Given the description of an element on the screen output the (x, y) to click on. 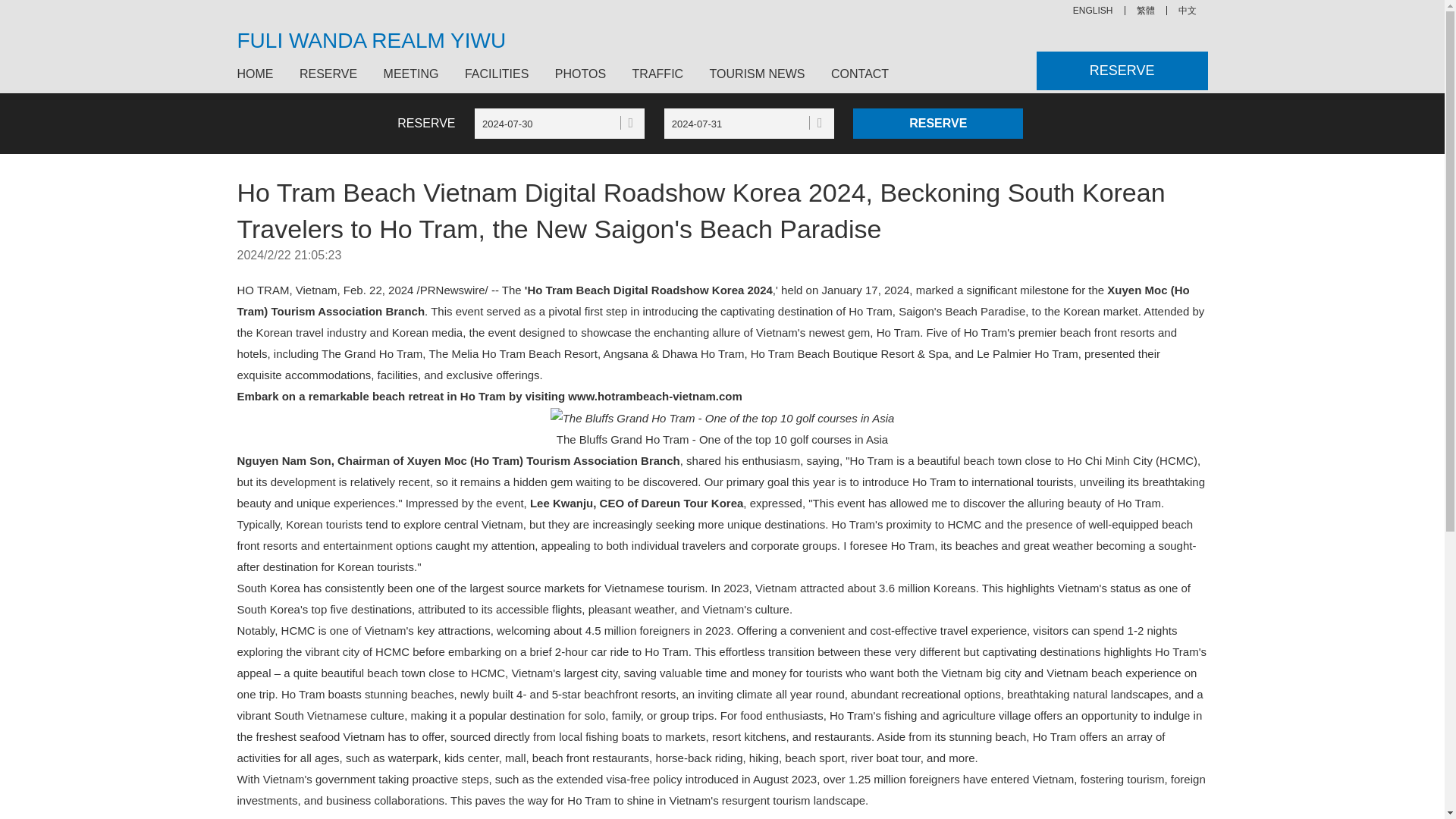
TOURISM NEWS (757, 74)
Reserve (938, 123)
RESERVE (1122, 70)
Reserve (938, 123)
FULI WANDA REALM YIWU (370, 40)
MEETING (410, 74)
CONTACT (853, 74)
2024-07-31 (748, 123)
HOME (259, 74)
Fuli Wanda Realm Yiwu (1093, 10)
RESERVE (328, 74)
PHOTOS (580, 74)
ENGLISH (1093, 10)
FACILITIES (496, 74)
